Given the description of an element on the screen output the (x, y) to click on. 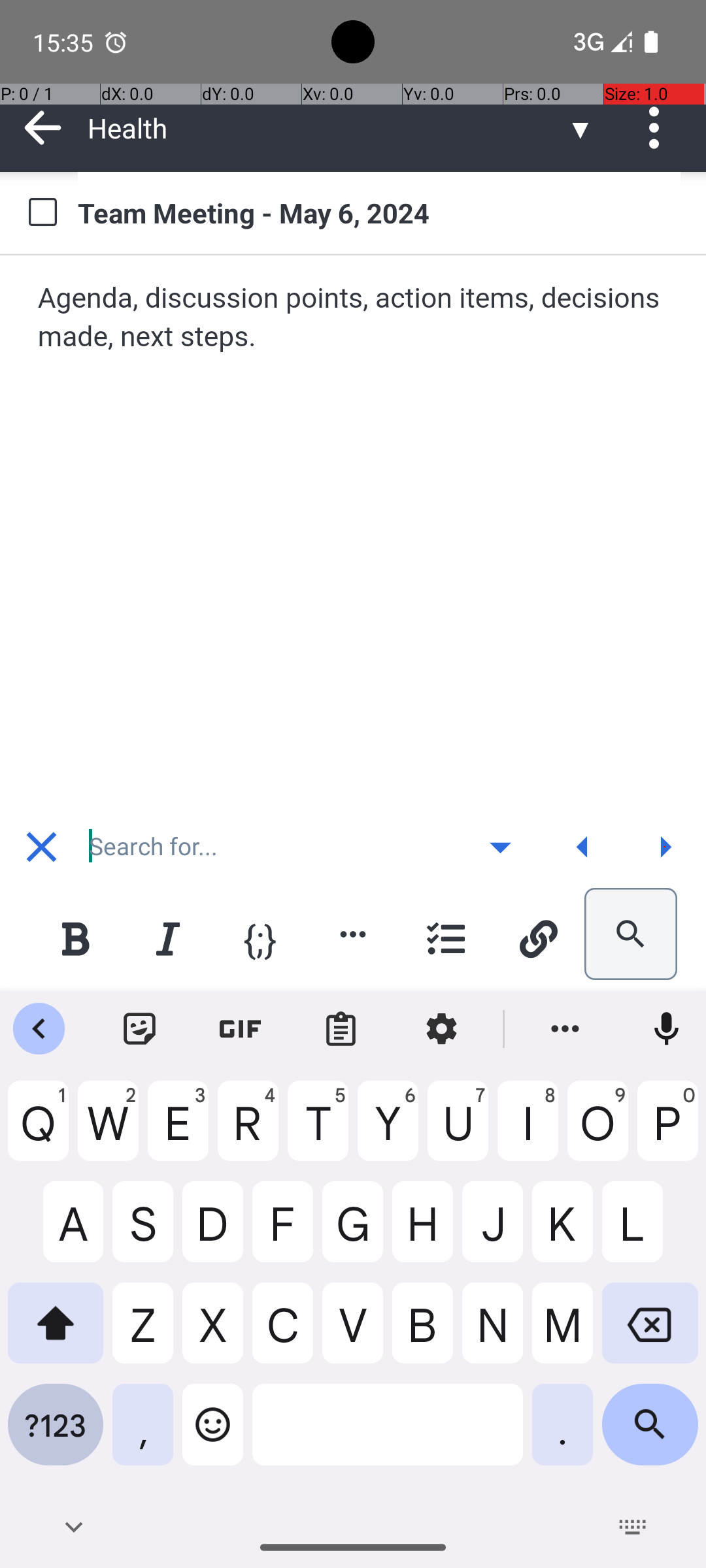
Search for... Element type: android.widget.EditText (270, 846)
Show advanced Element type: android.widget.Button (499, 846)
Previous match Element type: android.widget.Button (582, 846)
Next match Element type: android.widget.Button (664, 846)
󰅖 Element type: android.widget.TextView (41, 846)
󰍝 Element type: android.widget.TextView (500, 846)
󰍞 Element type: android.widget.TextView (582, 846)
󰍟 Element type: android.widget.TextView (664, 846)
Agenda, discussion points, action items, decisions made, next steps. Element type: android.widget.EditText (354, 317)
